Given the description of an element on the screen output the (x, y) to click on. 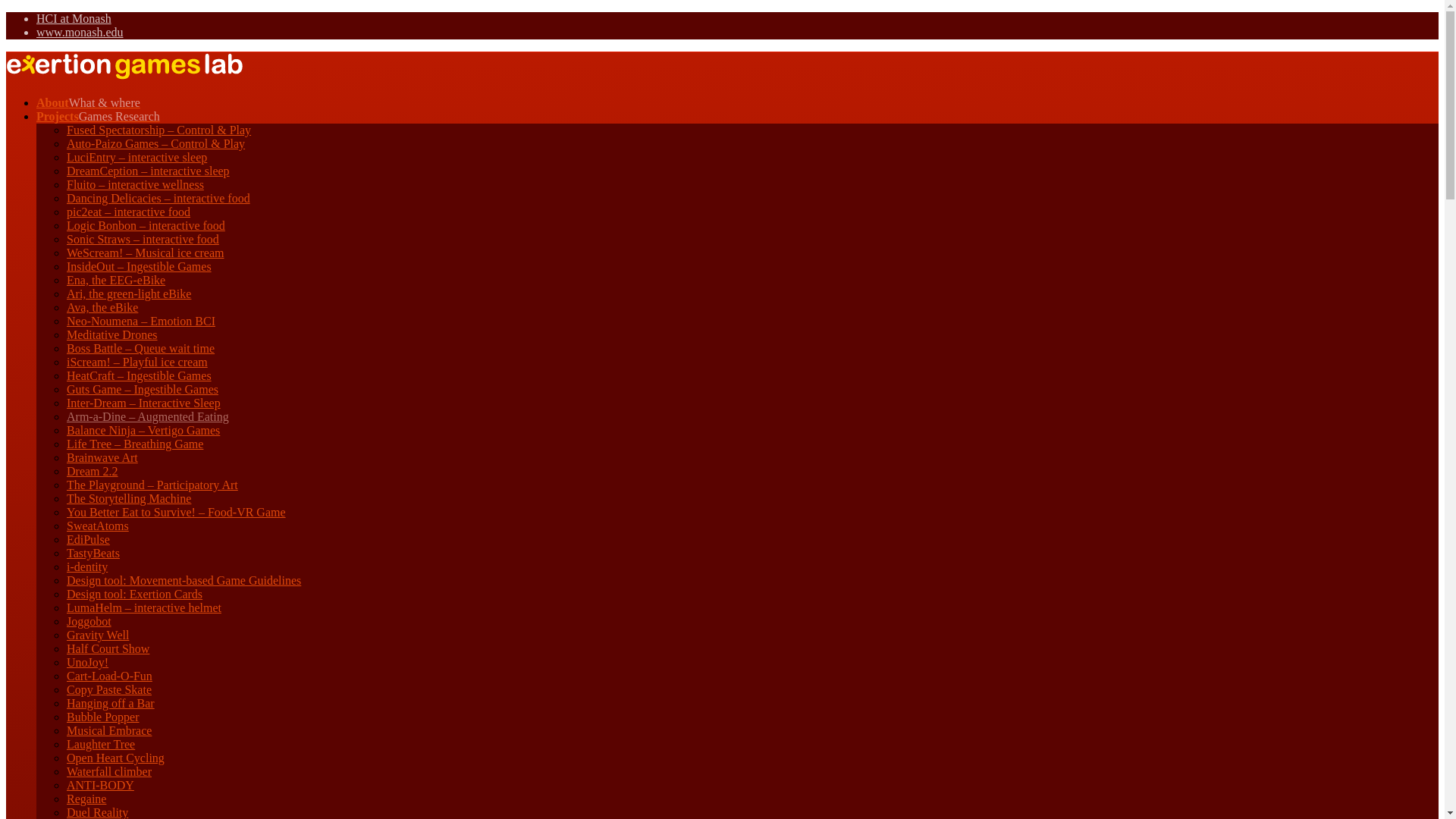
Ena, the EEG-eBike (115, 279)
ProjectsGames Research (98, 115)
Ari, the green-light eBike (128, 293)
EdiPulse (88, 539)
Meditative Drones (111, 334)
Design tool: Movement-based Game Guidelines (183, 580)
Ava, the eBike (102, 307)
SweatAtoms (97, 525)
Brainwave Art (102, 457)
i-dentity (86, 566)
